Given the description of an element on the screen output the (x, y) to click on. 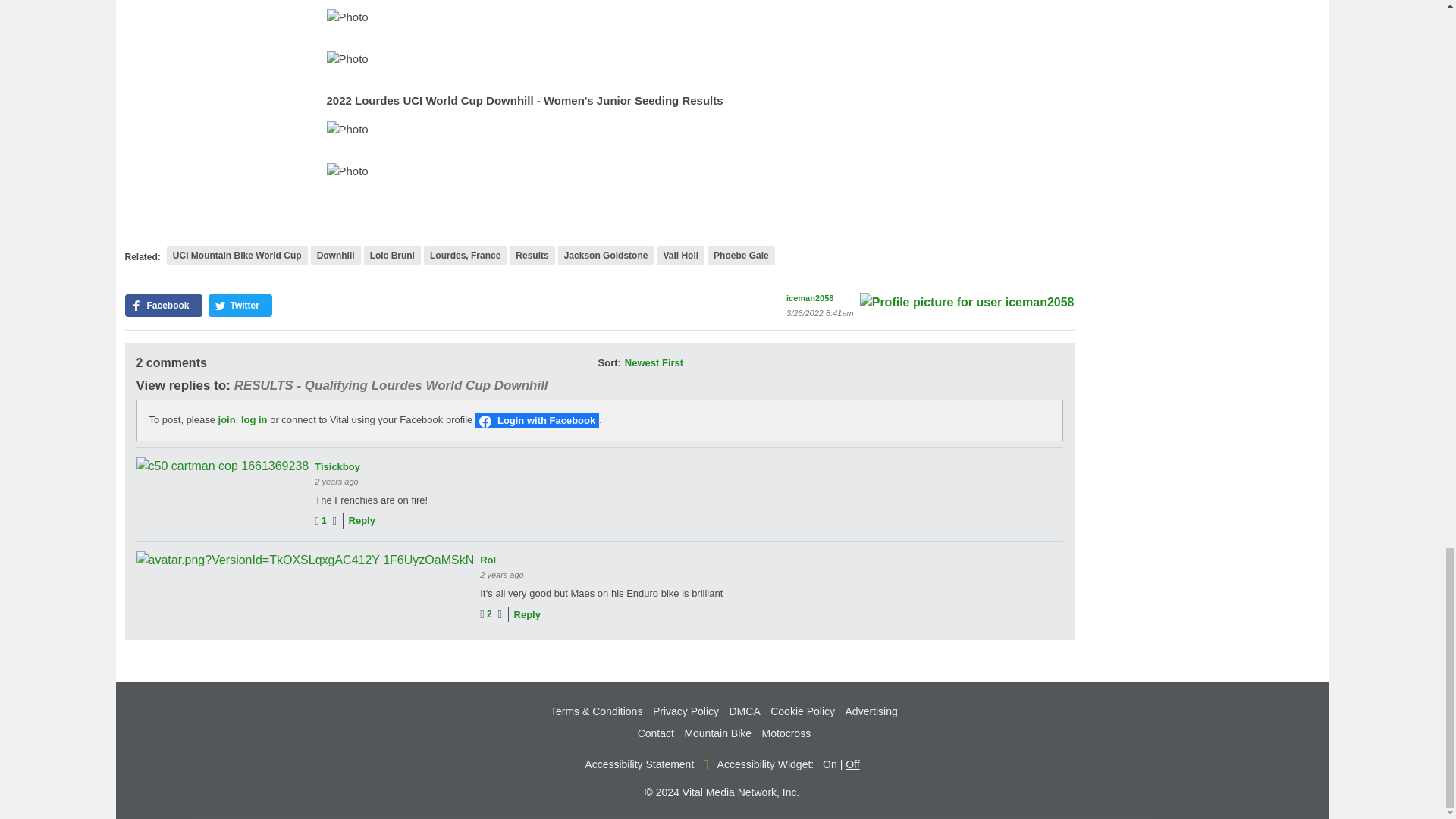
Rol (305, 560)
iceman2058 (967, 302)
View user profile. (488, 559)
You must be logged in to vote (488, 614)
You must be logged in to vote (322, 521)
Tisickboy (222, 466)
View user profile. (336, 466)
